Given the description of an element on the screen output the (x, y) to click on. 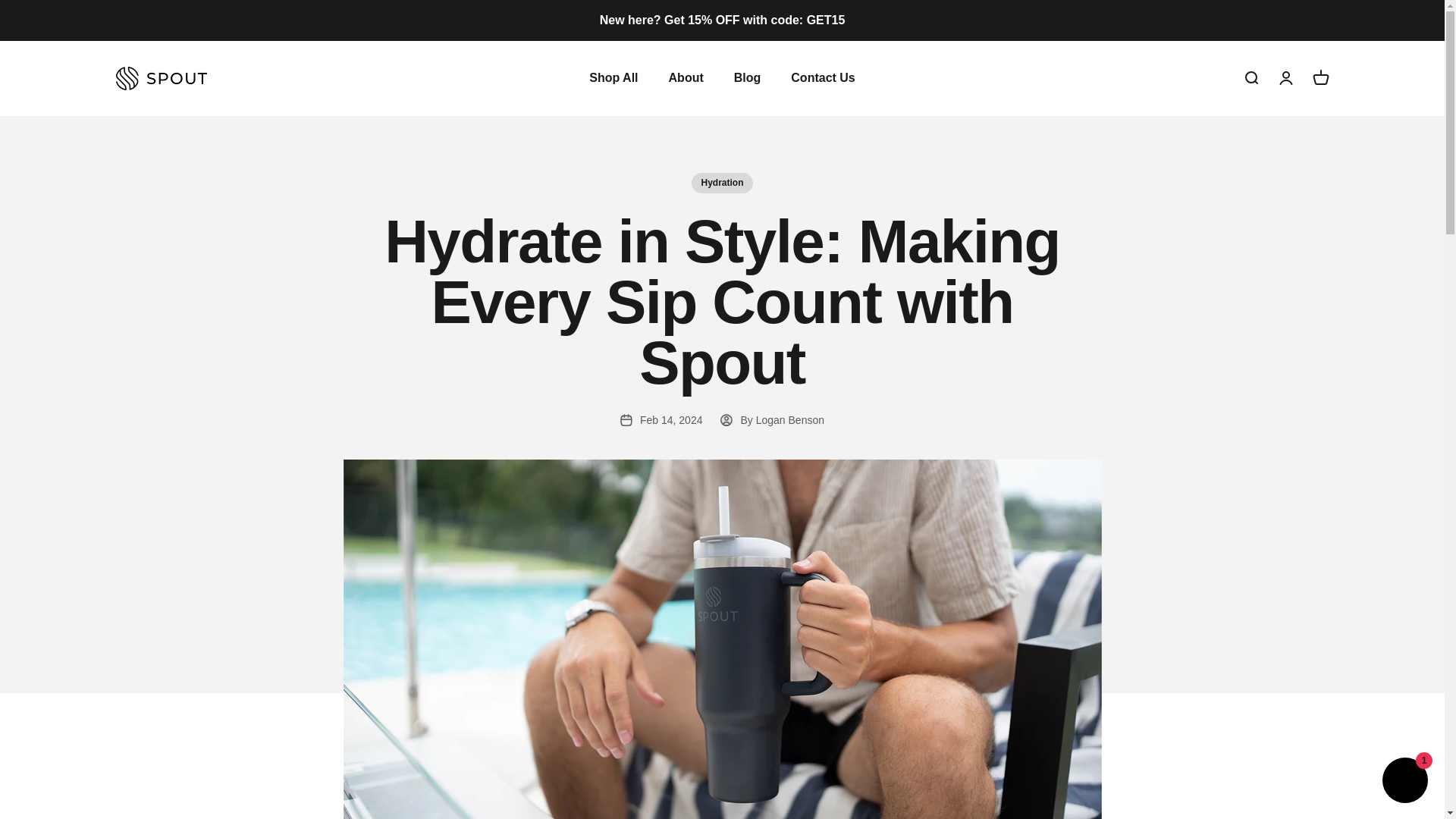
Shopify online store chat (1404, 781)
Contact Us (822, 77)
Blog (747, 77)
Spout - Premium Drinkware (1319, 77)
Shop All (160, 78)
Open account page (613, 77)
About (1285, 77)
Hydration (685, 77)
Open search (721, 182)
